Given the description of an element on the screen output the (x, y) to click on. 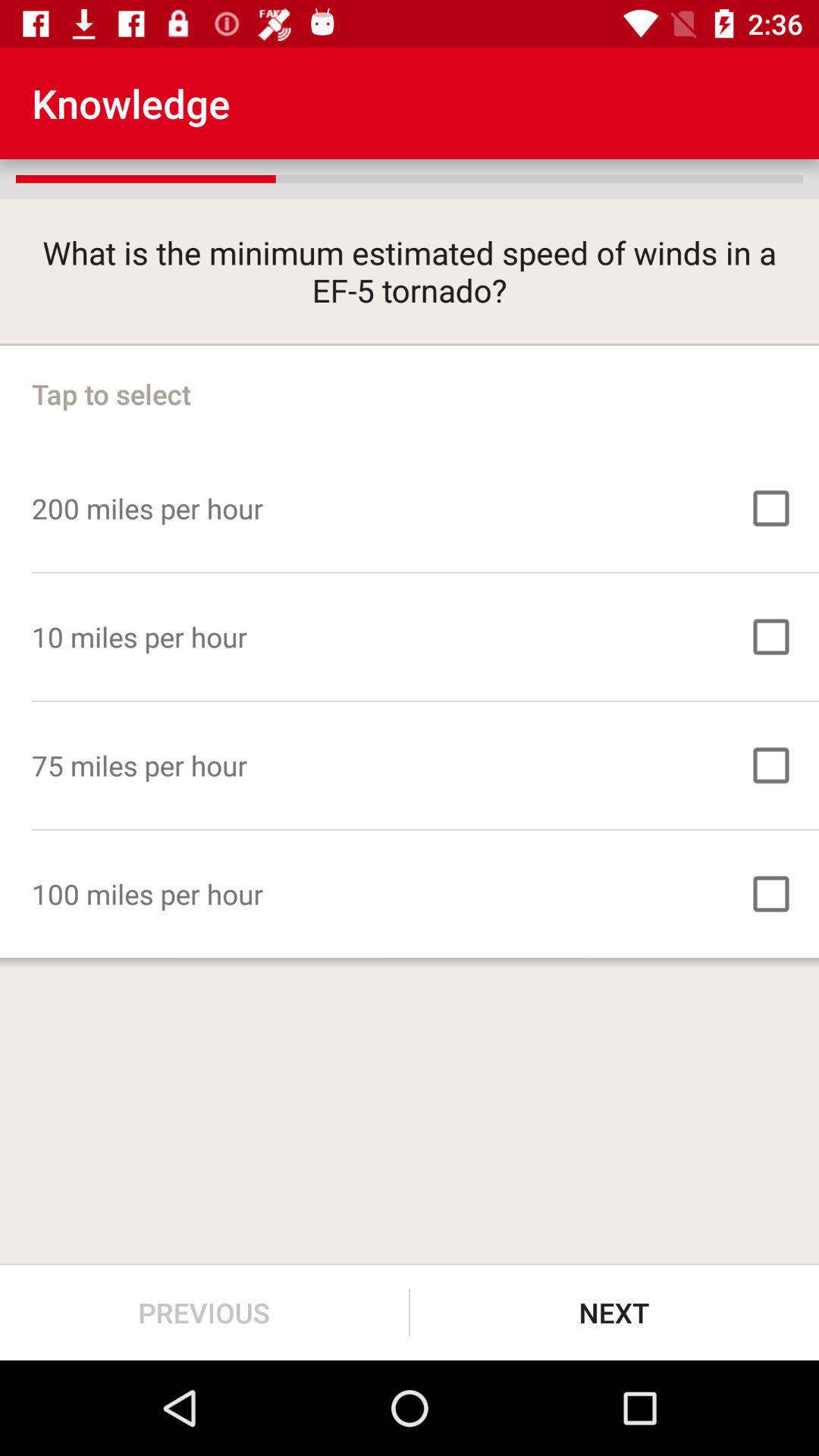
launch next at the bottom right corner (614, 1312)
